Given the description of an element on the screen output the (x, y) to click on. 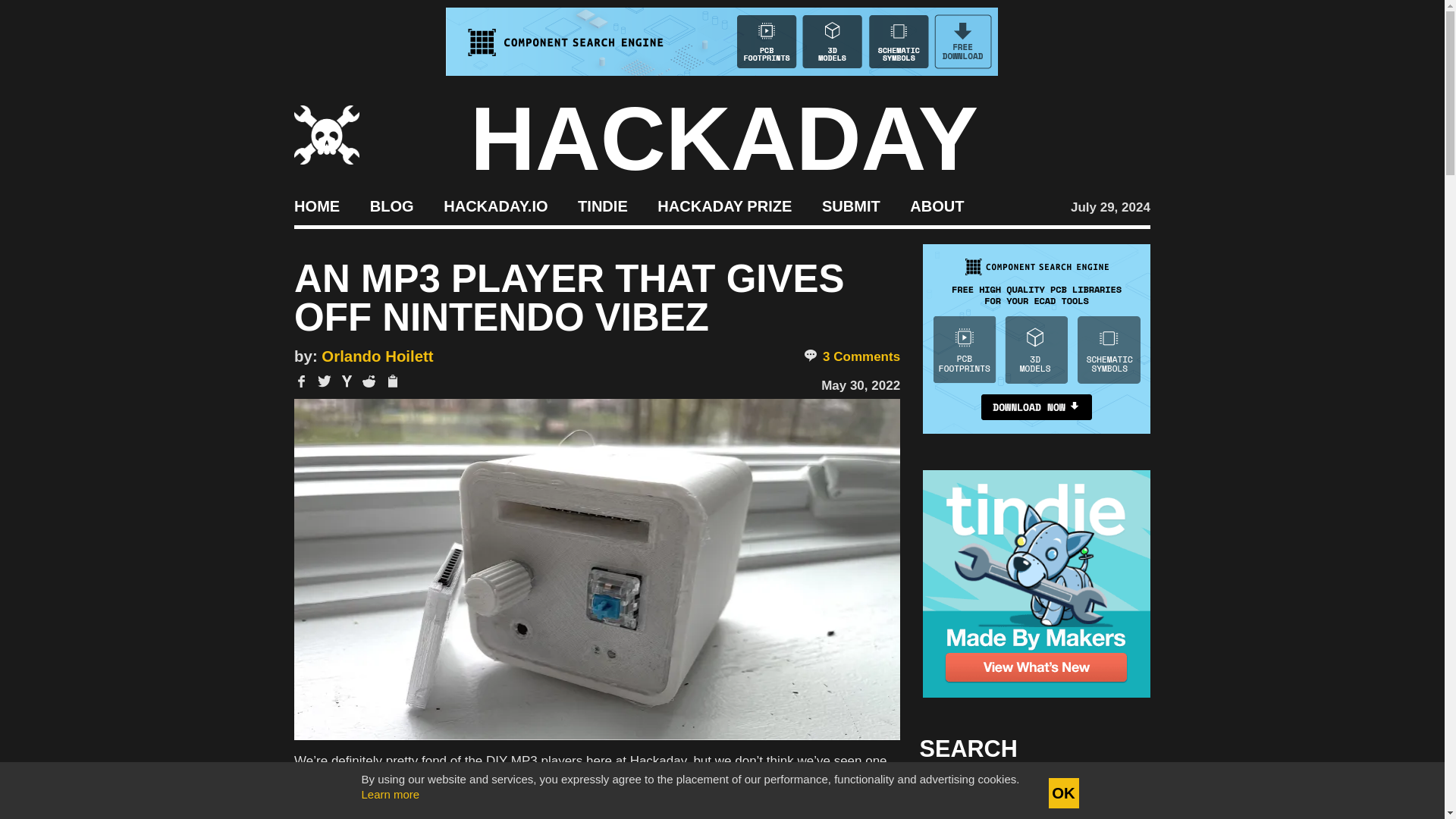
TINDIE (602, 205)
HOME (316, 205)
ABOUT (936, 205)
Share on Reddit (369, 381)
HACKADAY.IO (495, 205)
Share on Facebook (301, 381)
SUBMIT (851, 205)
May 30, 2022 (860, 385)
Posts by Orlando Hoilett (376, 356)
BLOG (391, 205)
Copy title or shortlink (391, 381)
CartridgeMP3 (356, 779)
Search (1115, 792)
Share on Twitter (324, 381)
Search (1115, 792)
